Given the description of an element on the screen output the (x, y) to click on. 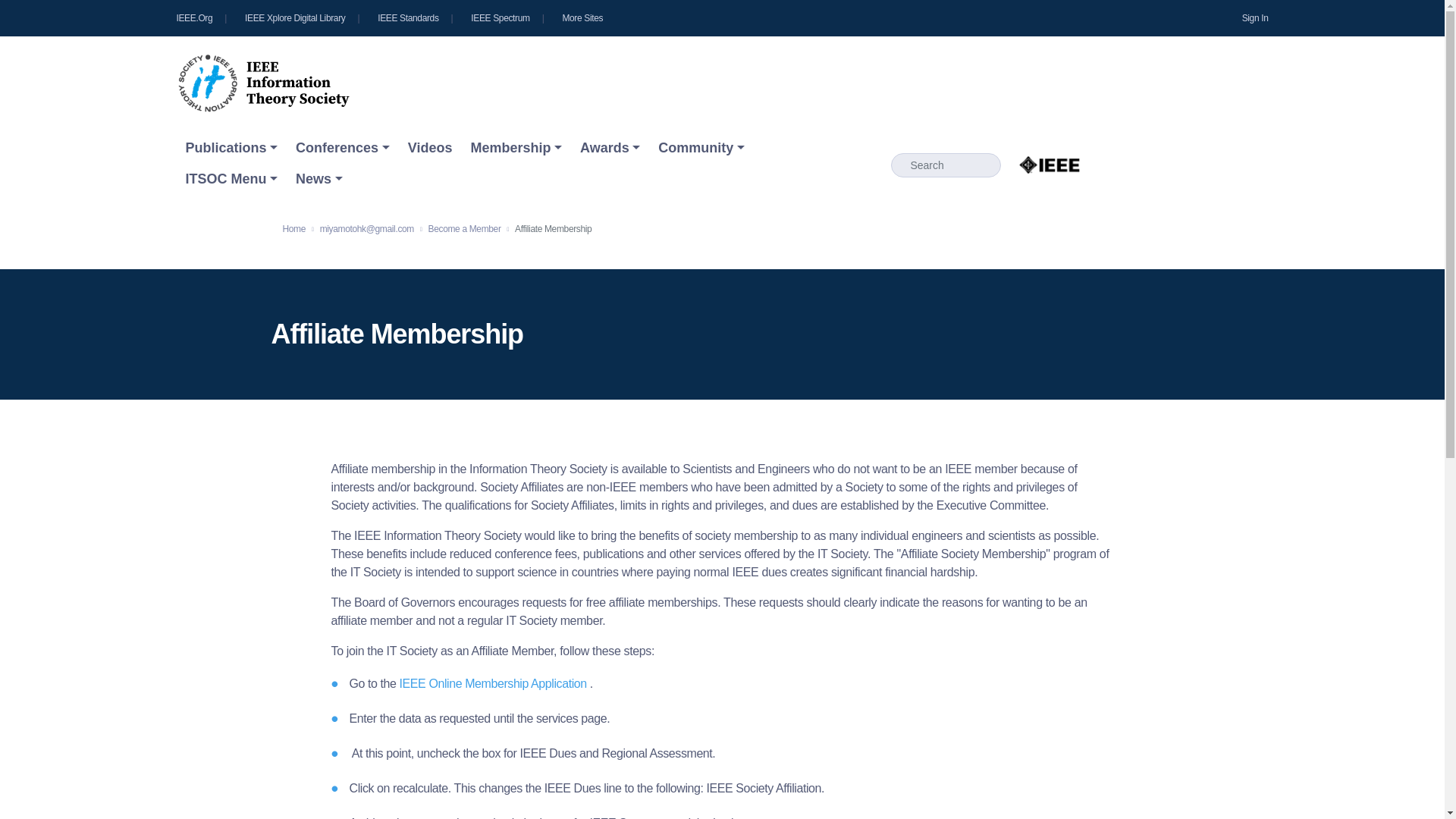
IEEE Xplore Digital Library (301, 17)
Publications (231, 147)
More Sites (582, 17)
IEEE Standards (414, 17)
IEEE Spectrum (507, 17)
Membership (516, 147)
IEEE Homepage (205, 17)
Community (701, 147)
Home (262, 83)
More sites (582, 17)
